Given the description of an element on the screen output the (x, y) to click on. 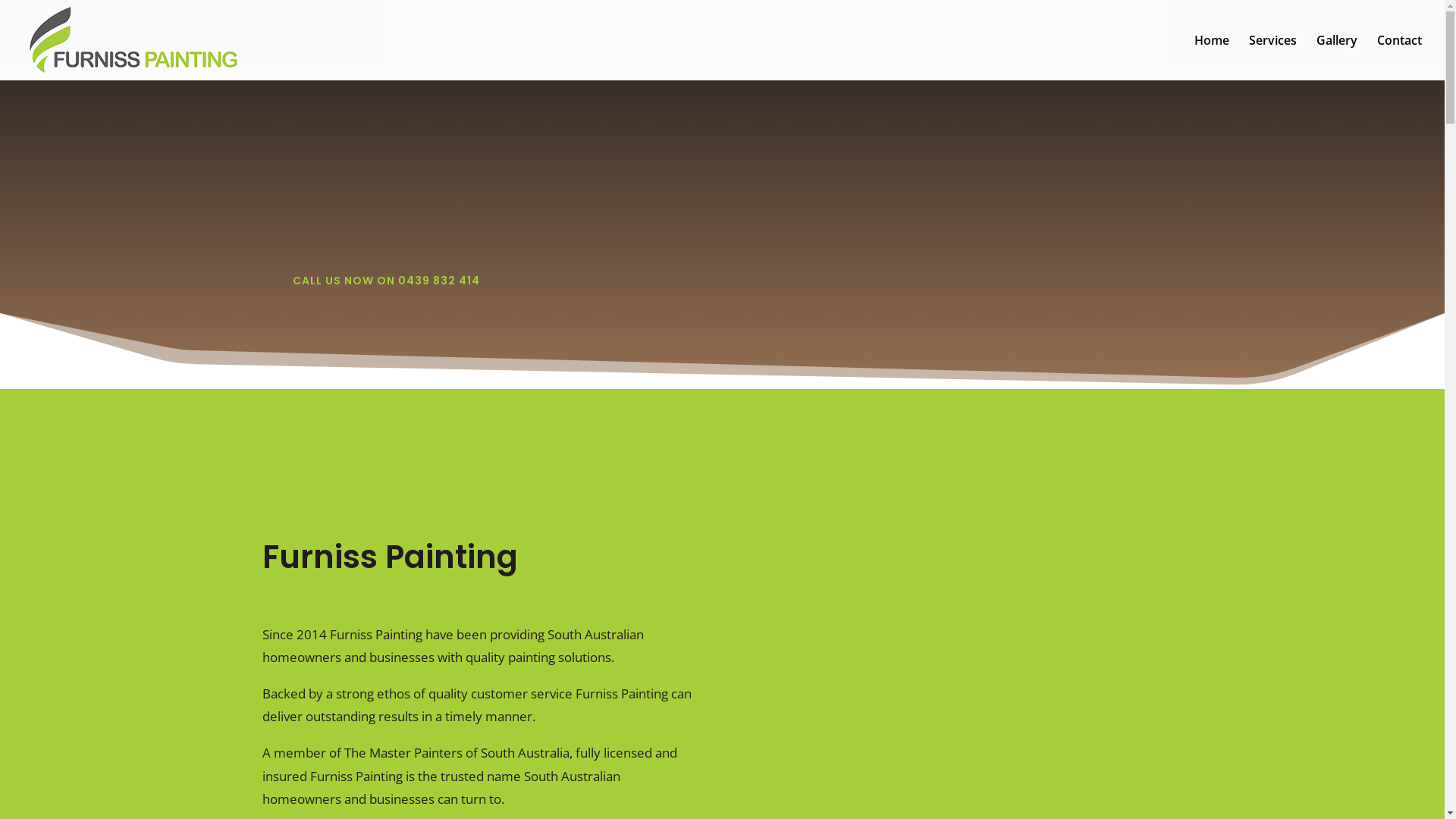
Contact Element type: text (1399, 57)
Home Element type: text (1211, 57)
Services Element type: text (1272, 57)
Gallery Element type: text (1336, 57)
CALL US NOW ON 0439 832 414 Element type: text (386, 281)
